Given the description of an element on the screen output the (x, y) to click on. 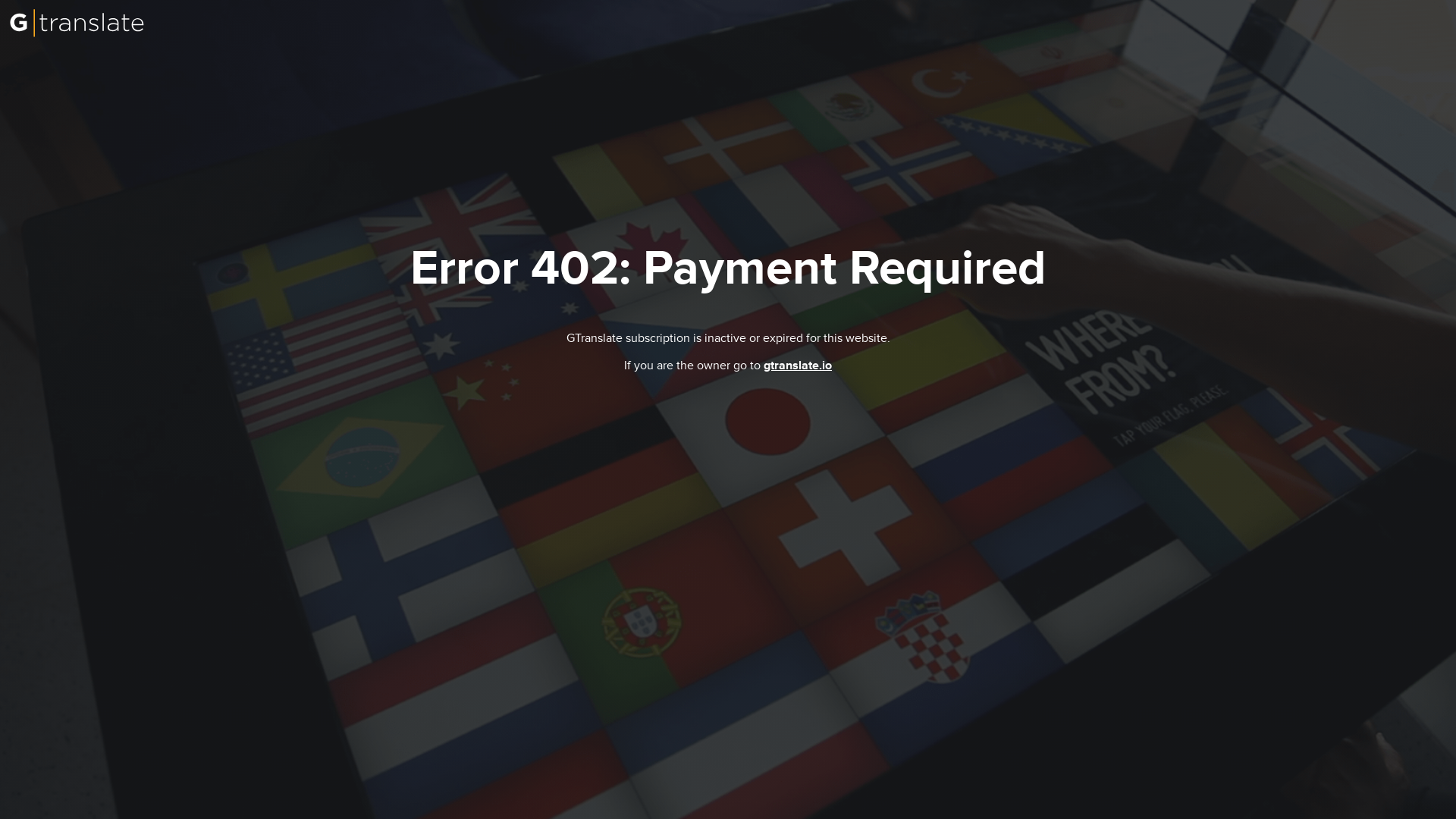
gtranslate.io (796, 365)
